Given the description of an element on the screen output the (x, y) to click on. 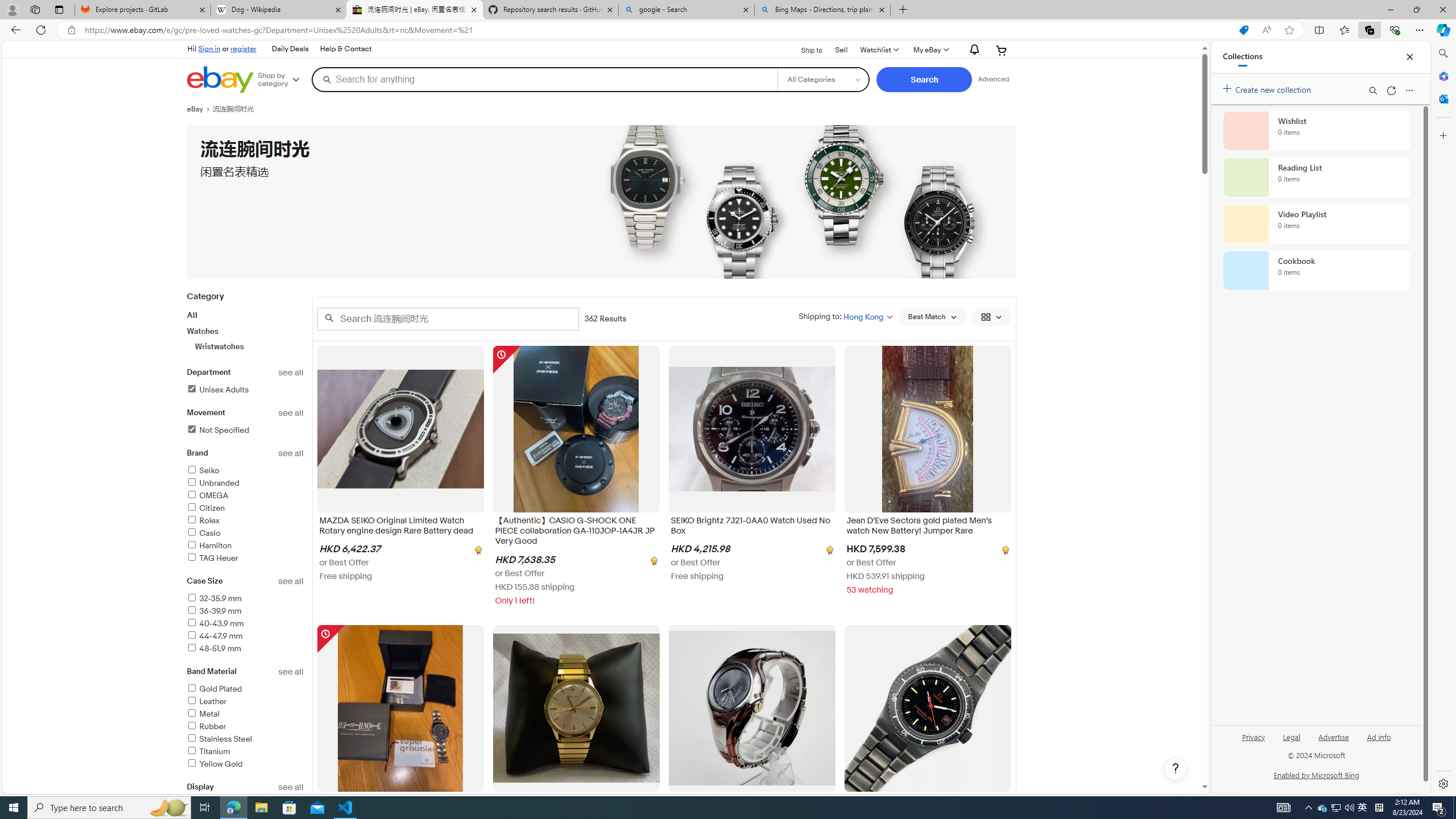
TAG Heuer (245, 558)
Ad info (1378, 741)
Ship to (804, 49)
[object Undefined] (1004, 550)
Favorites (1344, 29)
36-39.9 mm (245, 611)
Microsoft 365 (1442, 76)
Advanced Search (993, 78)
Rolex (202, 520)
Legal (1292, 741)
Select a category for search (823, 78)
32-35.9 mm (245, 598)
Daily Deals (289, 49)
